Given the description of an element on the screen output the (x, y) to click on. 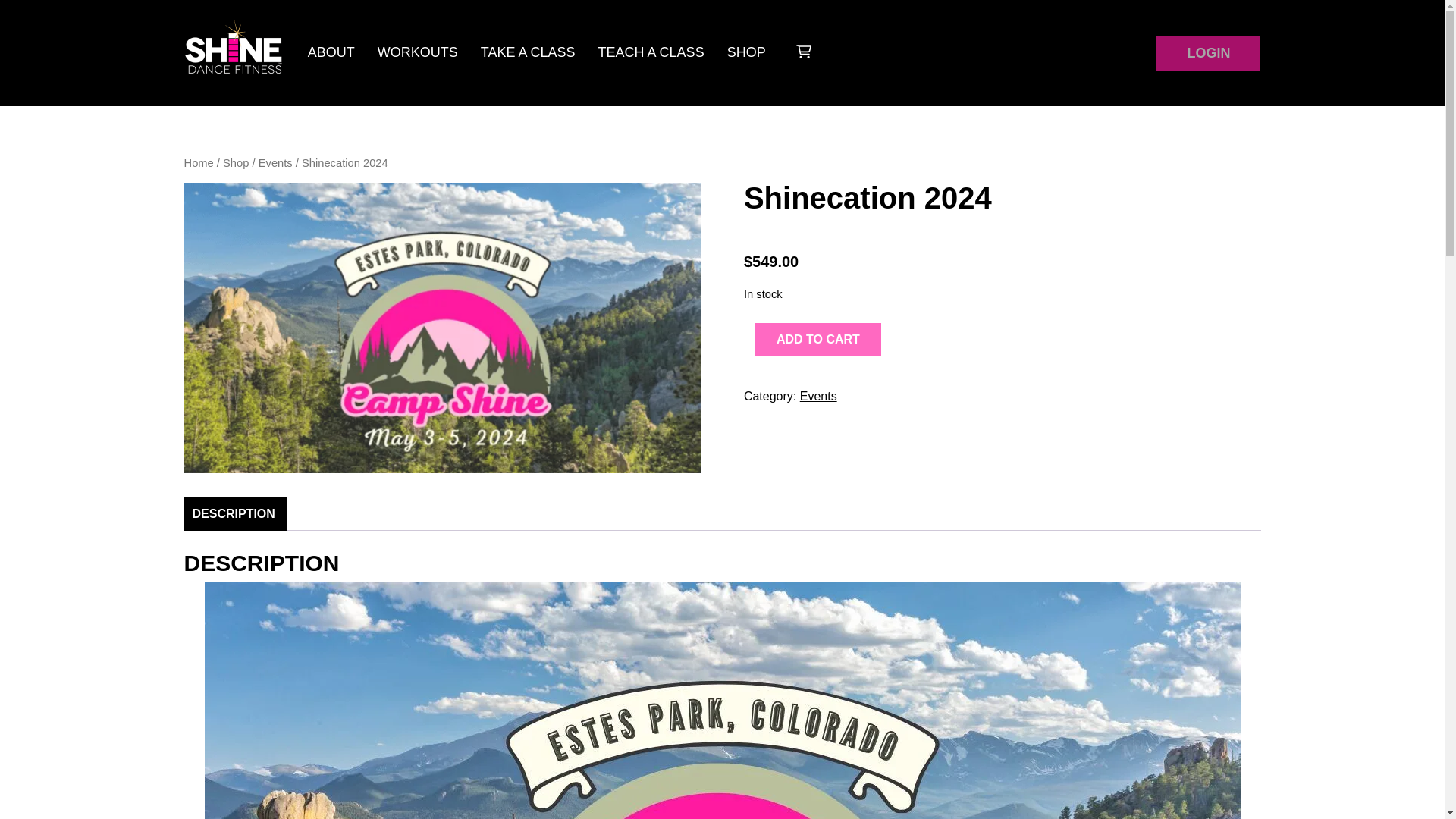
TAKE A CLASS (527, 51)
WORKOUTS (417, 51)
TEACH A CLASS (651, 51)
TAKE A CLASS (527, 51)
TEACH A CLASS (651, 51)
LOGIN (1198, 50)
WORKOUTS (417, 51)
SHOP (746, 51)
ABOUT (331, 51)
LOGIN (1208, 53)
